Given the description of an element on the screen output the (x, y) to click on. 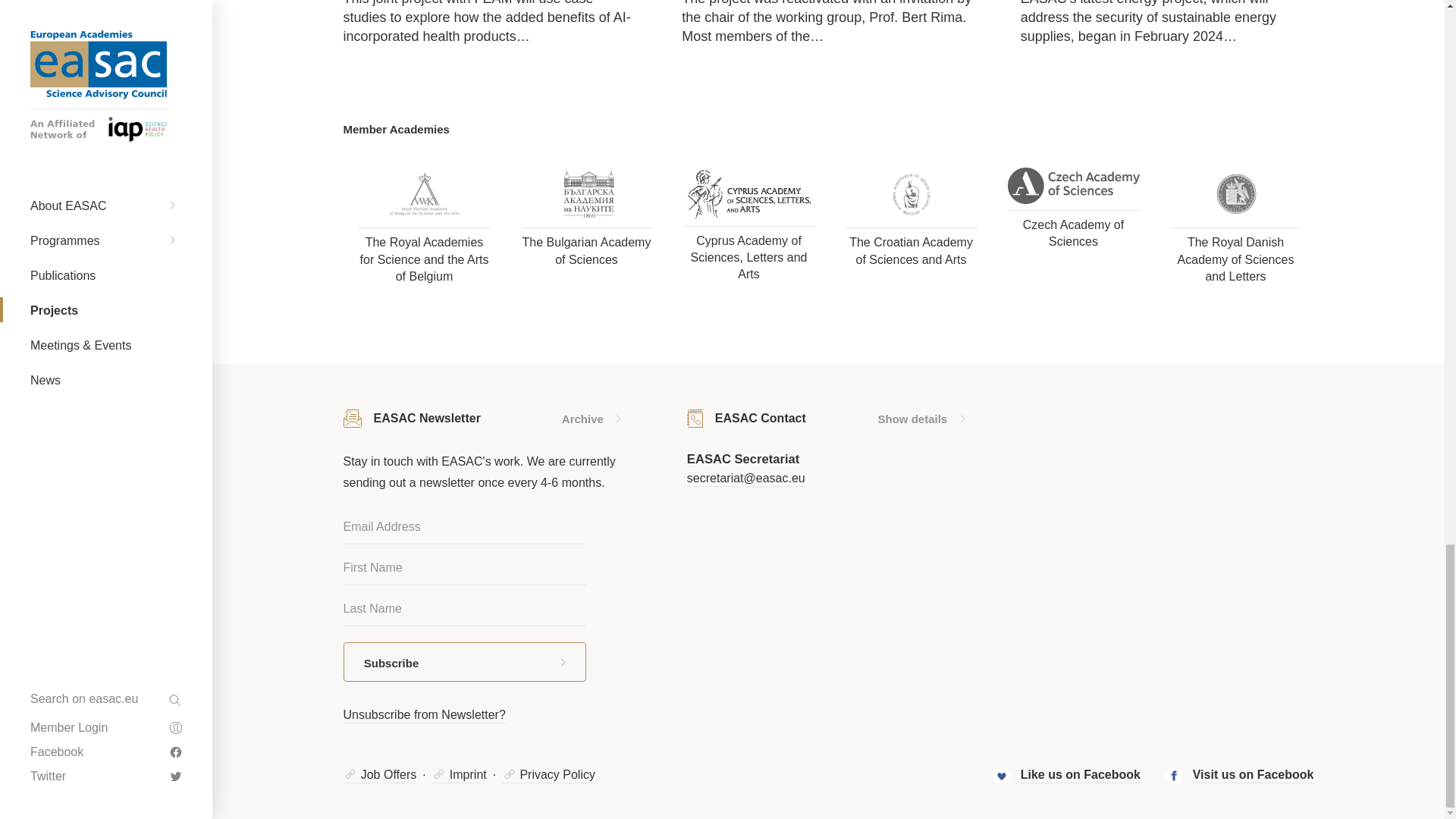
Subscribe (463, 661)
